Given the description of an element on the screen output the (x, y) to click on. 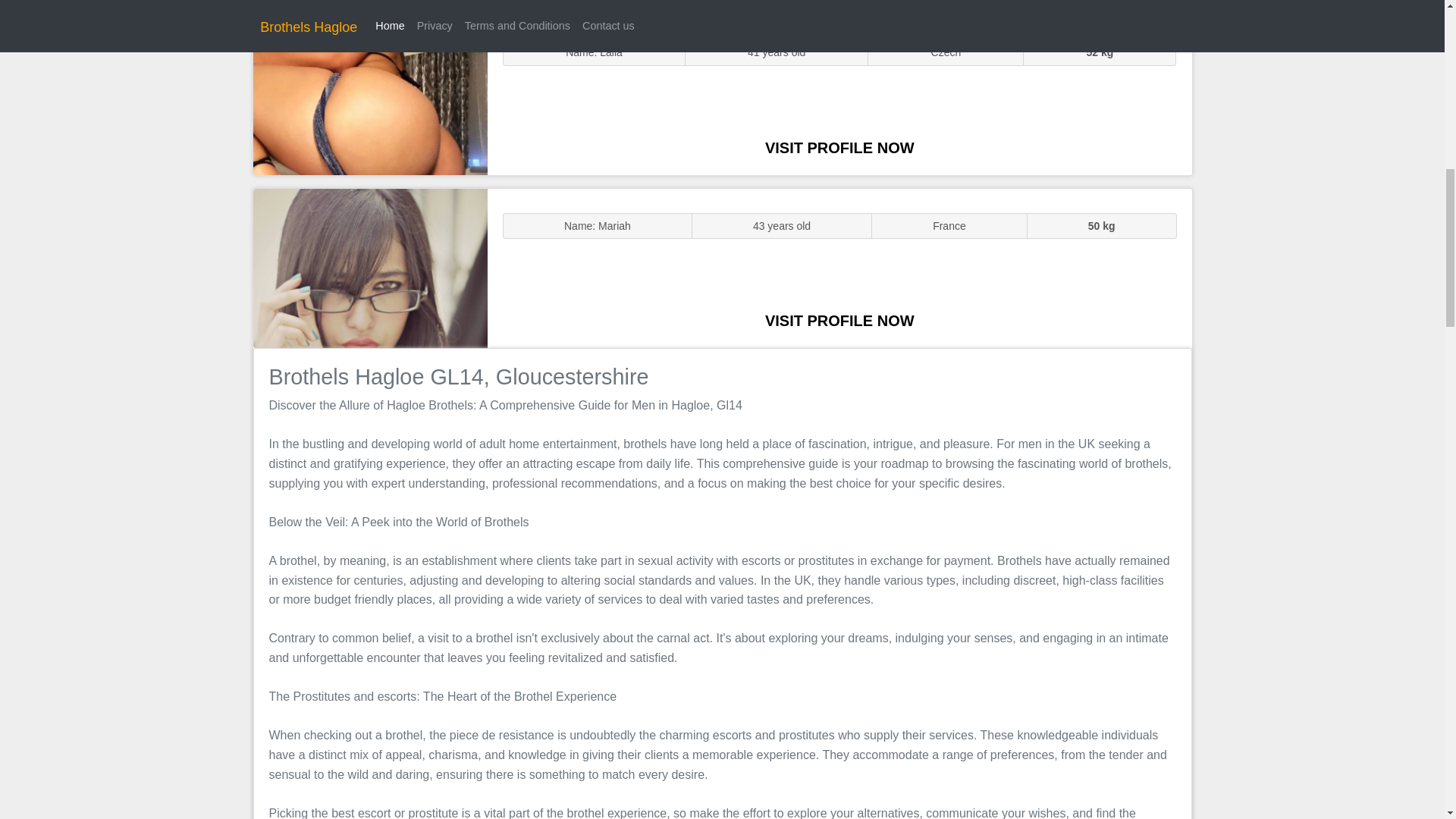
VISIT PROFILE NOW (839, 320)
VISIT PROFILE NOW (839, 147)
Sluts (370, 94)
Massage (370, 267)
